Given the description of an element on the screen output the (x, y) to click on. 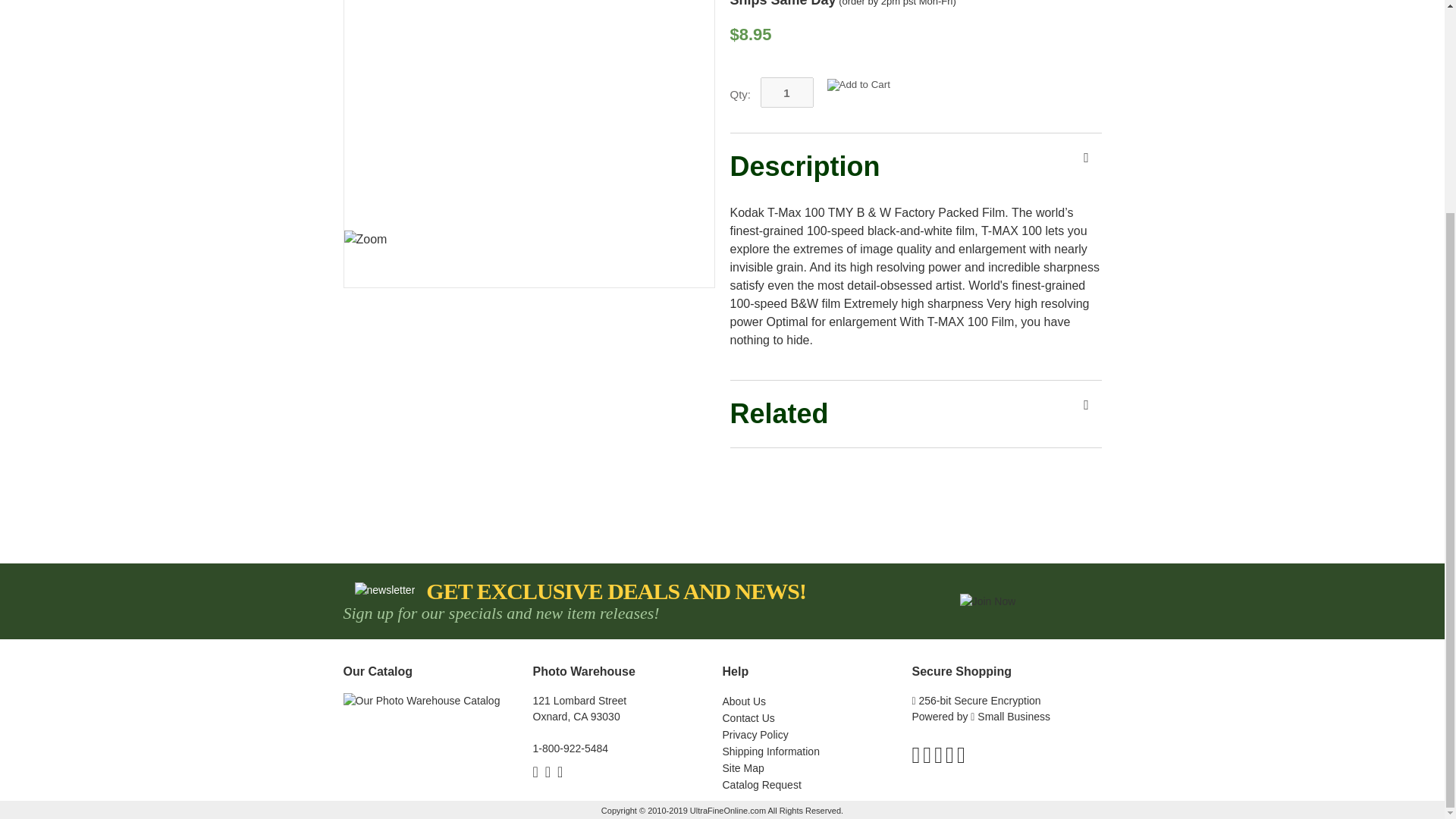
1 (786, 91)
Add to Cart (858, 84)
